Given the description of an element on the screen output the (x, y) to click on. 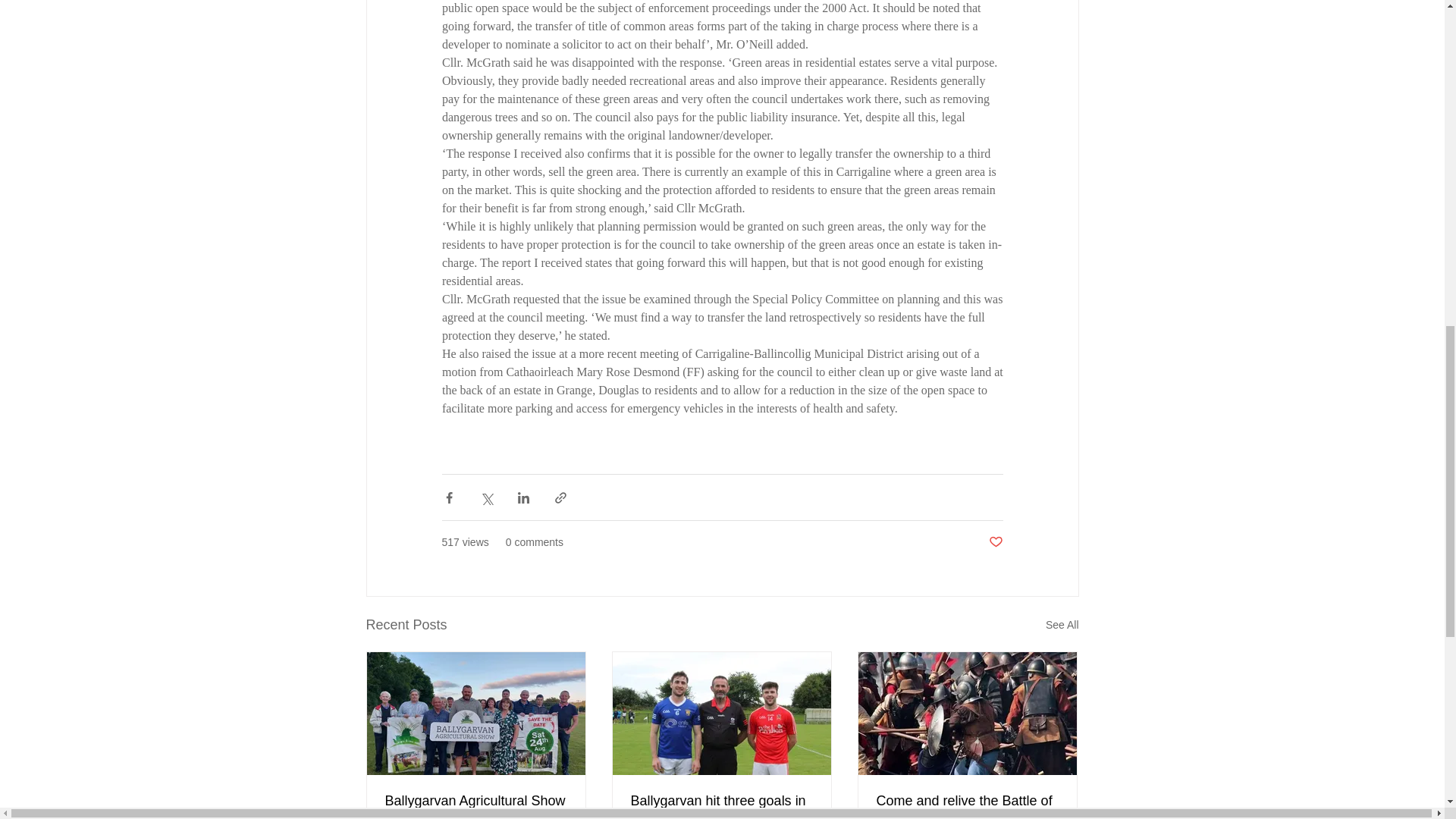
Ballygarvan Agricultural Show is all set (476, 806)
Post not marked as liked (995, 542)
See All (1061, 625)
Ballygarvan hit three goals in three minutes (721, 806)
Come and relive the Battle of Kinsale (967, 806)
